Given the description of an element on the screen output the (x, y) to click on. 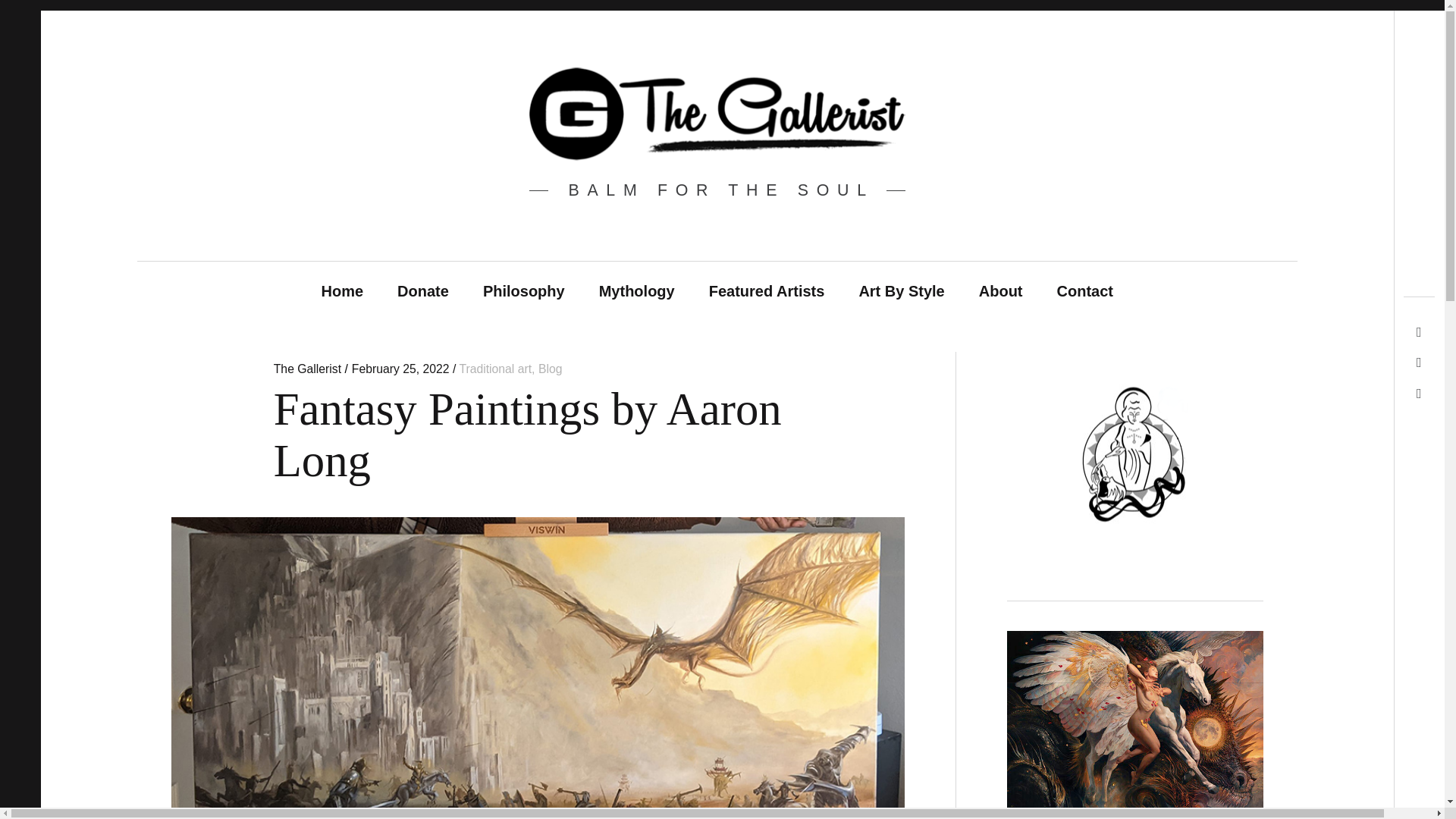
Art By Style (901, 291)
Traditional art (494, 369)
Blog (550, 369)
Donate (422, 291)
Mythology (636, 291)
Contact (1085, 291)
About (1000, 291)
The Gallerist (309, 369)
Featured Artists (767, 291)
Plato And The Soul (1135, 790)
February 25, 2022 (400, 369)
Home (341, 291)
Philosophy (523, 291)
